Given the description of an element on the screen output the (x, y) to click on. 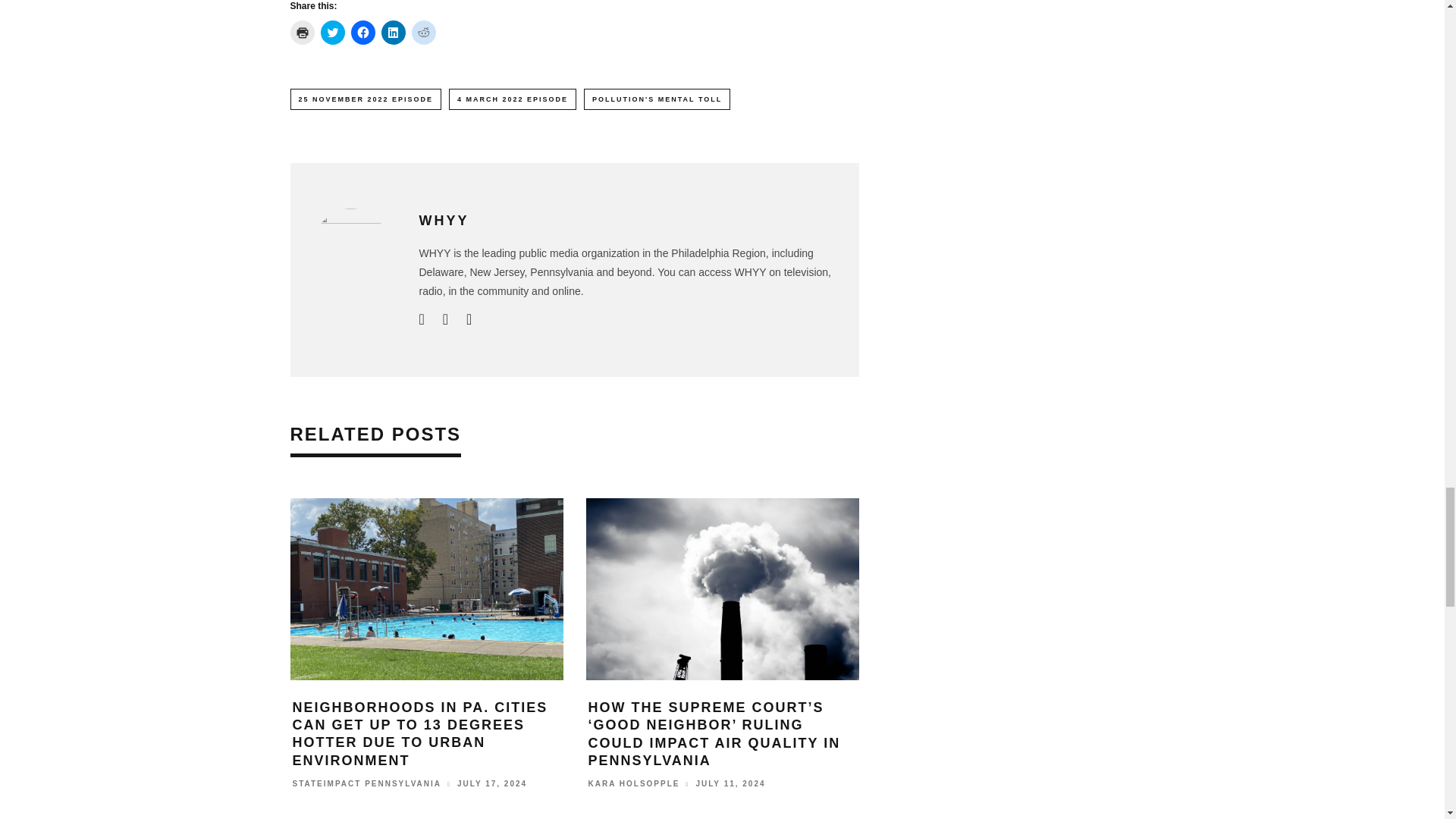
Click to share on Facebook (362, 32)
Click to share on Twitter (331, 32)
Click to share on Reddit (422, 32)
Click to print (301, 32)
Click to share on LinkedIn (392, 32)
